Given the description of an element on the screen output the (x, y) to click on. 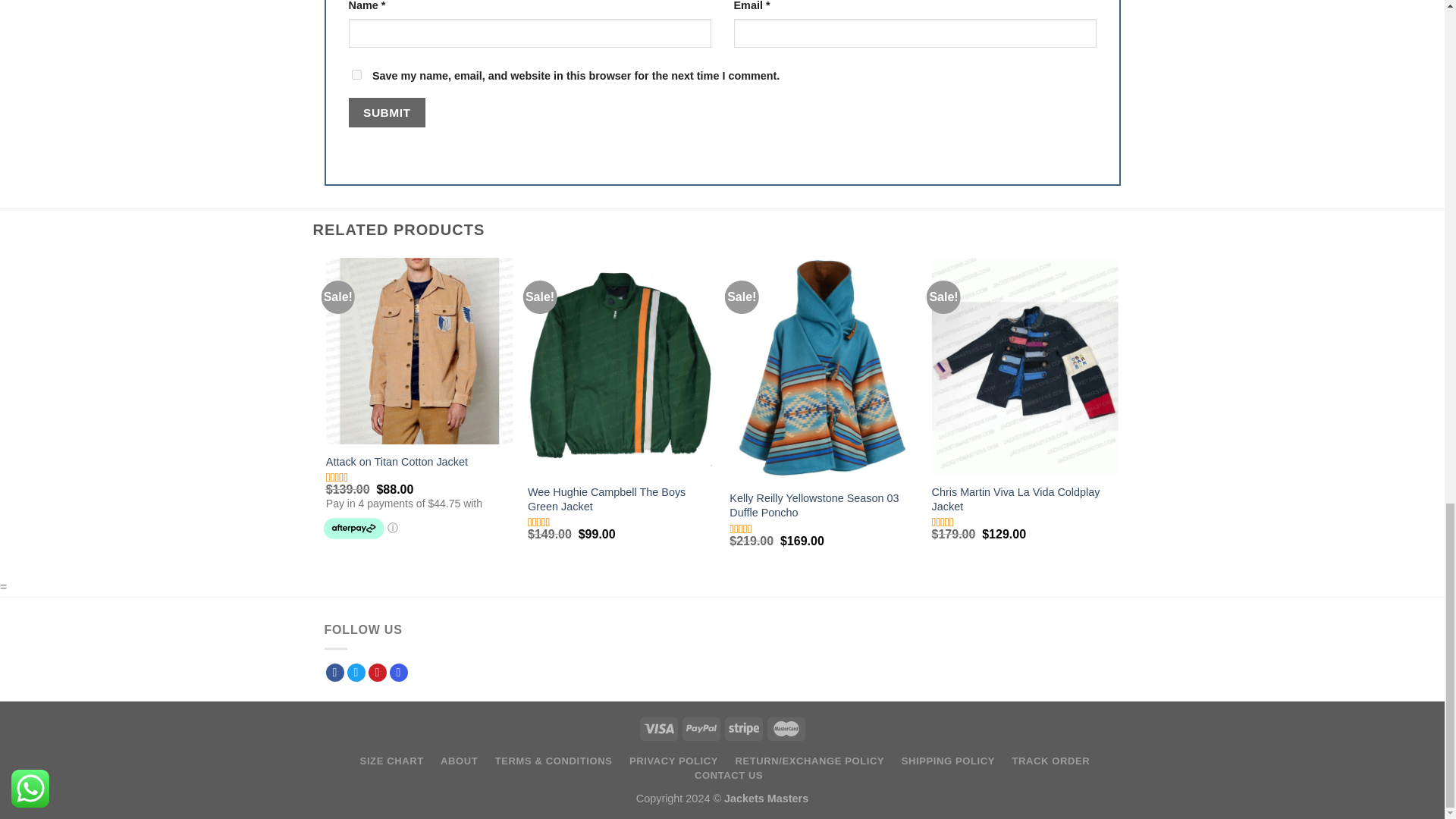
Submit (387, 112)
yes (356, 74)
